Given the description of an element on the screen output the (x, y) to click on. 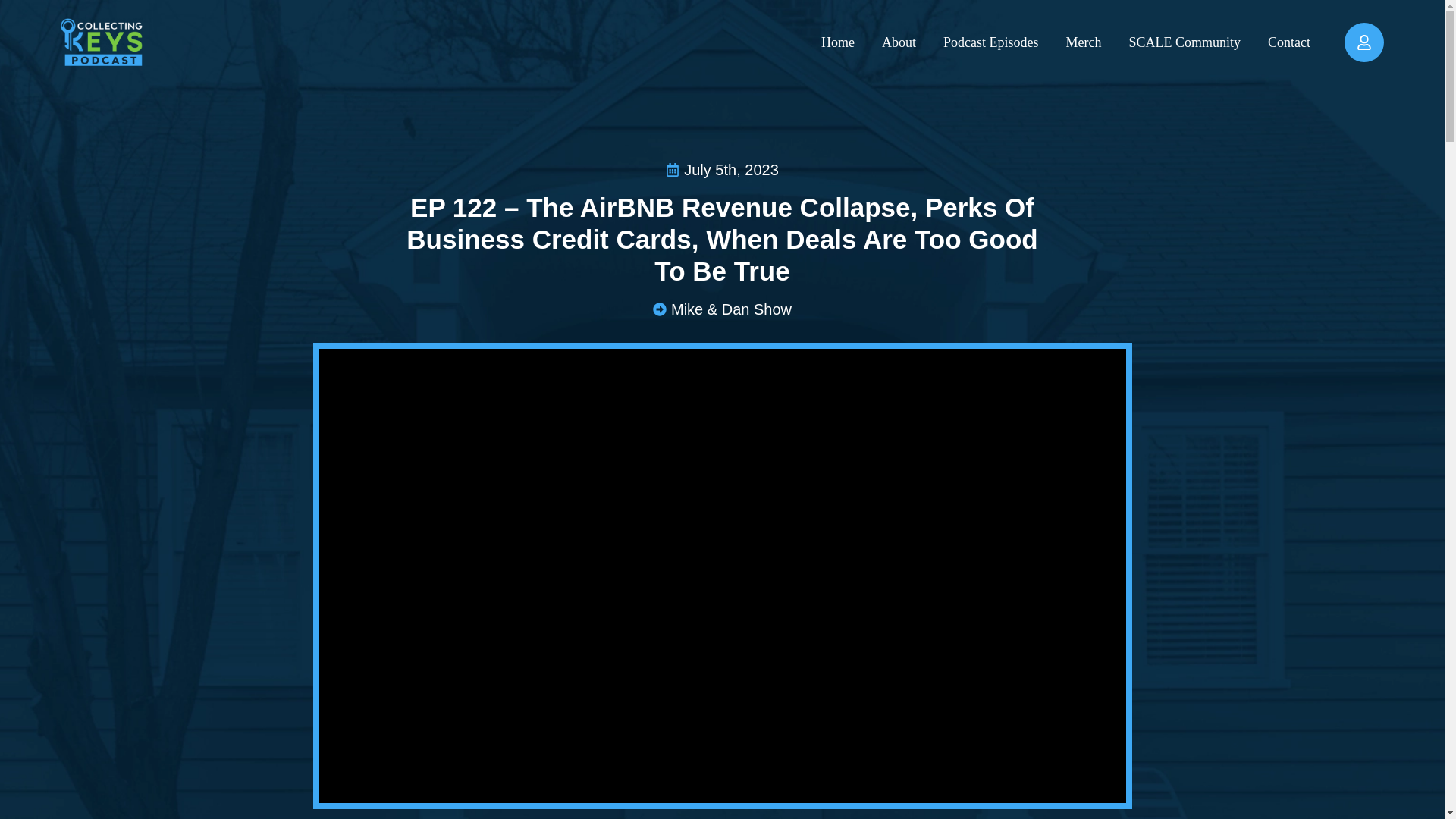
Merch (1083, 41)
About (898, 41)
Home (837, 41)
SCALE Community (1184, 41)
Contact (1288, 41)
Podcast Episodes (991, 41)
